Given the description of an element on the screen output the (x, y) to click on. 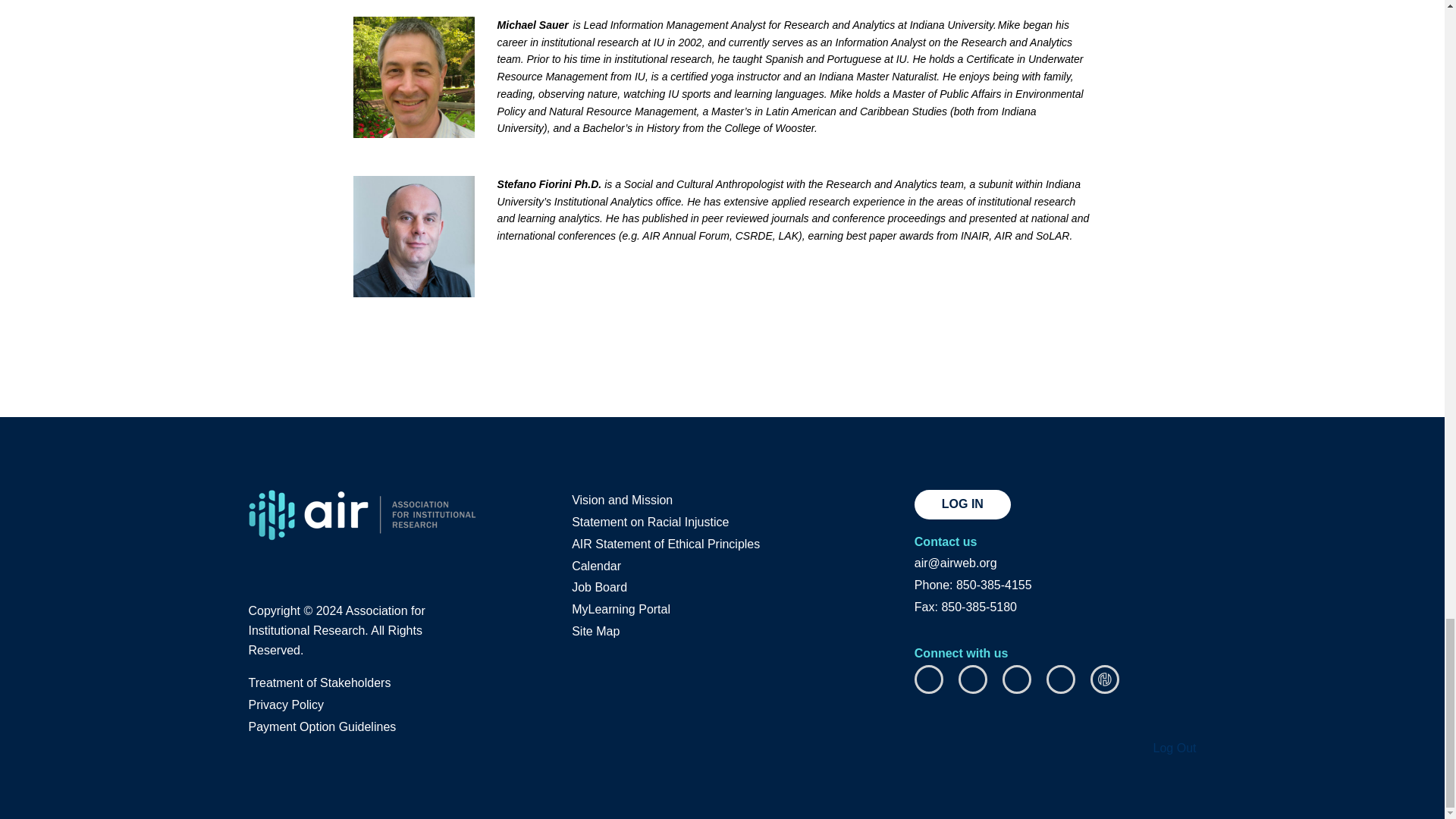
Fiorini (413, 236)
Association for Institutional Research (362, 514)
